Given the description of an element on the screen output the (x, y) to click on. 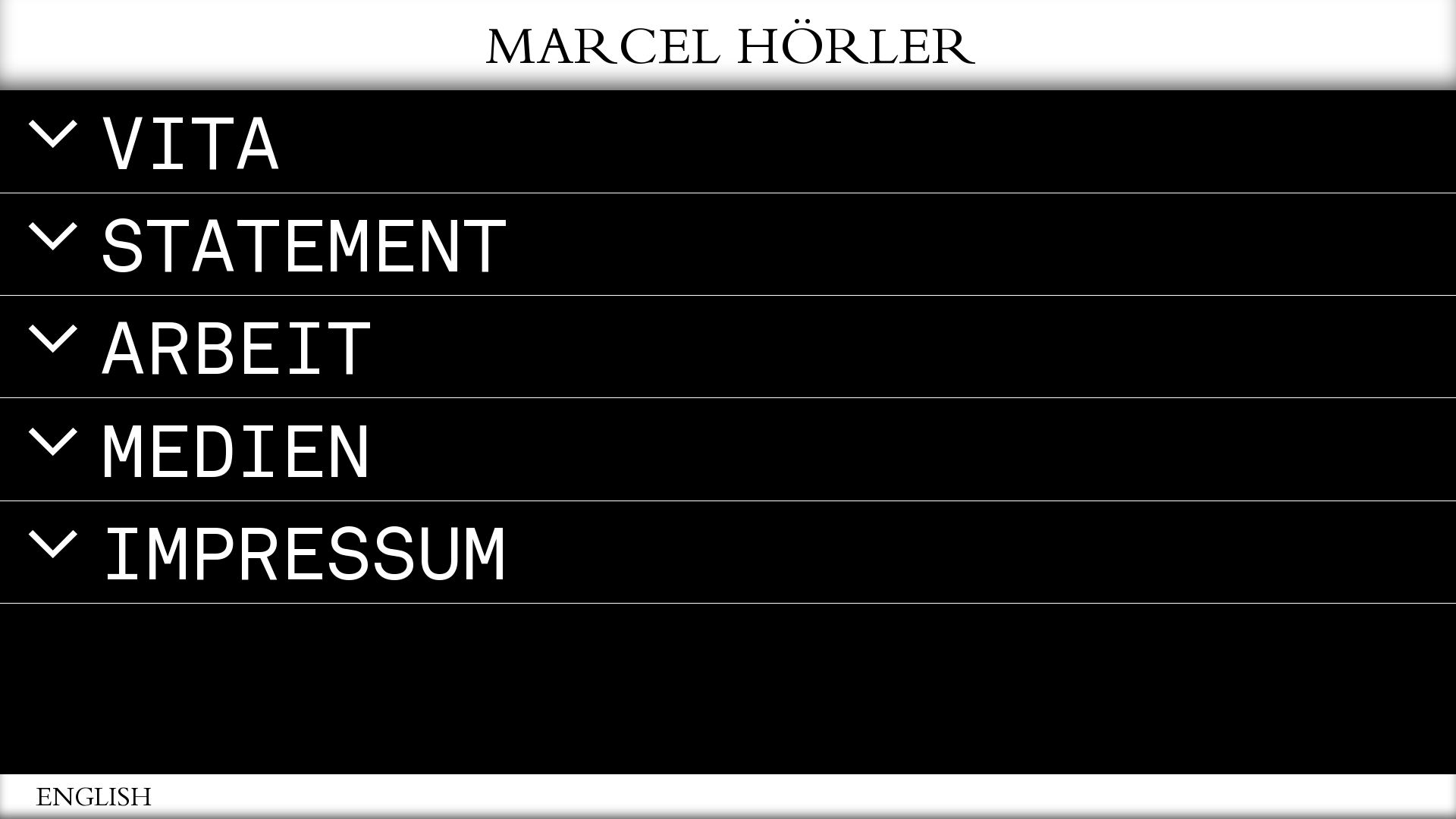
ENGLISH Element type: text (93, 800)
